Given the description of an element on the screen output the (x, y) to click on. 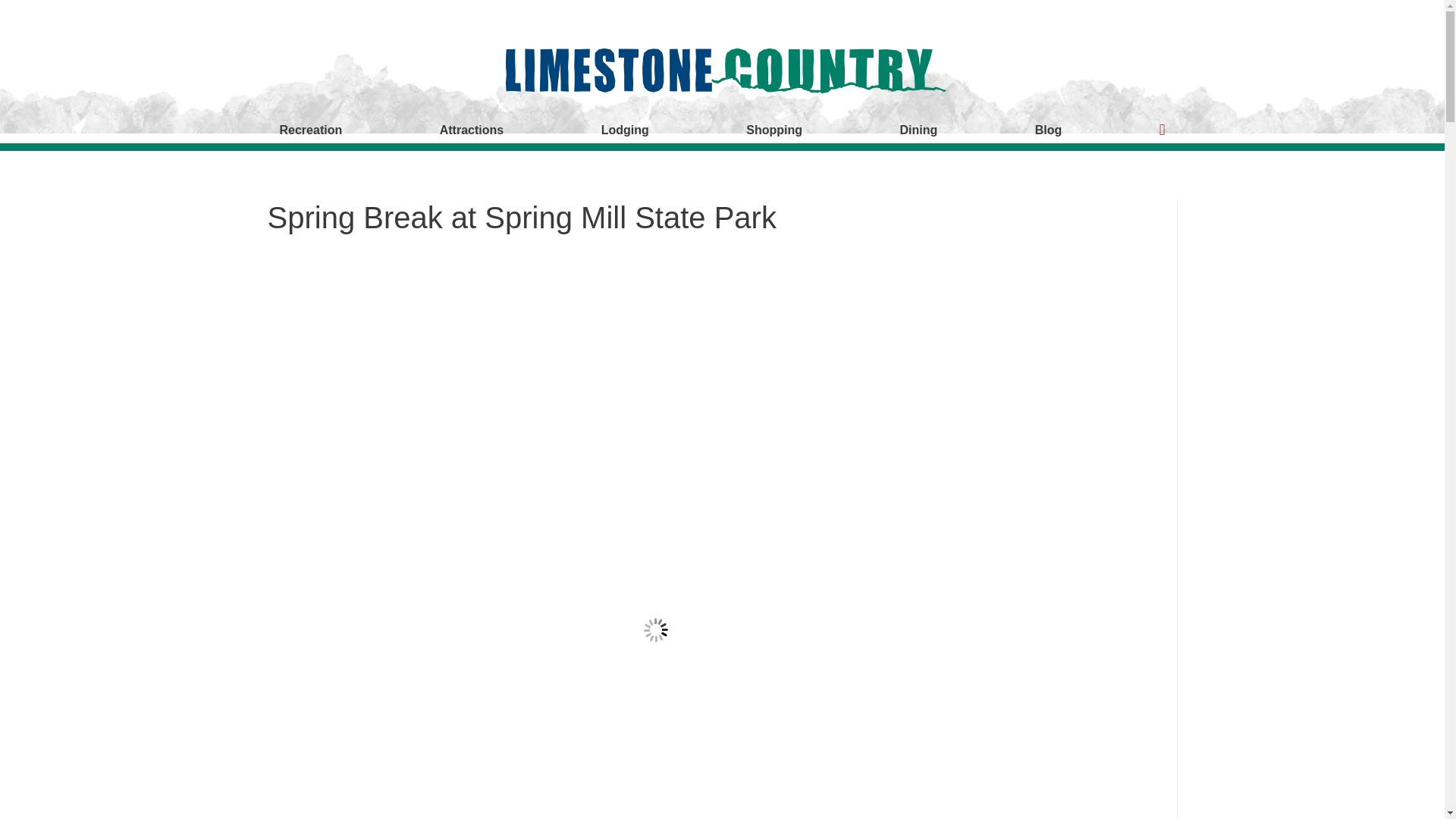
Recreation (309, 129)
Shopping (773, 129)
Spring Break at Spring Mill State Park (521, 217)
Dining (919, 129)
Search (18, 17)
Blog (1048, 129)
Lodging (625, 129)
Attractions (471, 129)
